Given the description of an element on the screen output the (x, y) to click on. 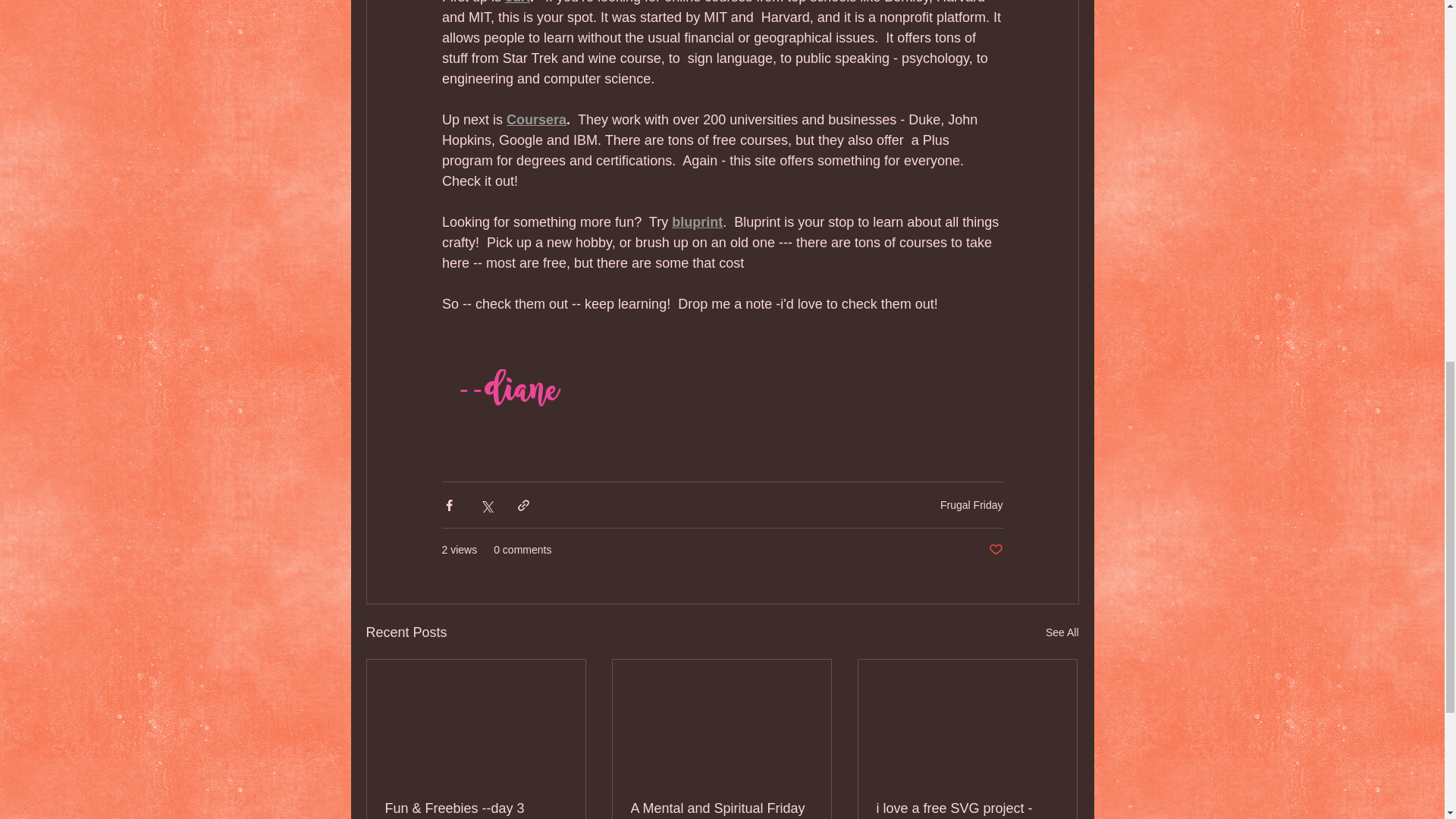
See All (1061, 632)
i love a free SVG project - (967, 808)
bluprint (696, 222)
A Mental and Spiritual Friday Freebie - (721, 809)
Coursera (536, 119)
Post not marked as liked (995, 549)
Frugal Friday (971, 504)
edX (517, 2)
